Given the description of an element on the screen output the (x, y) to click on. 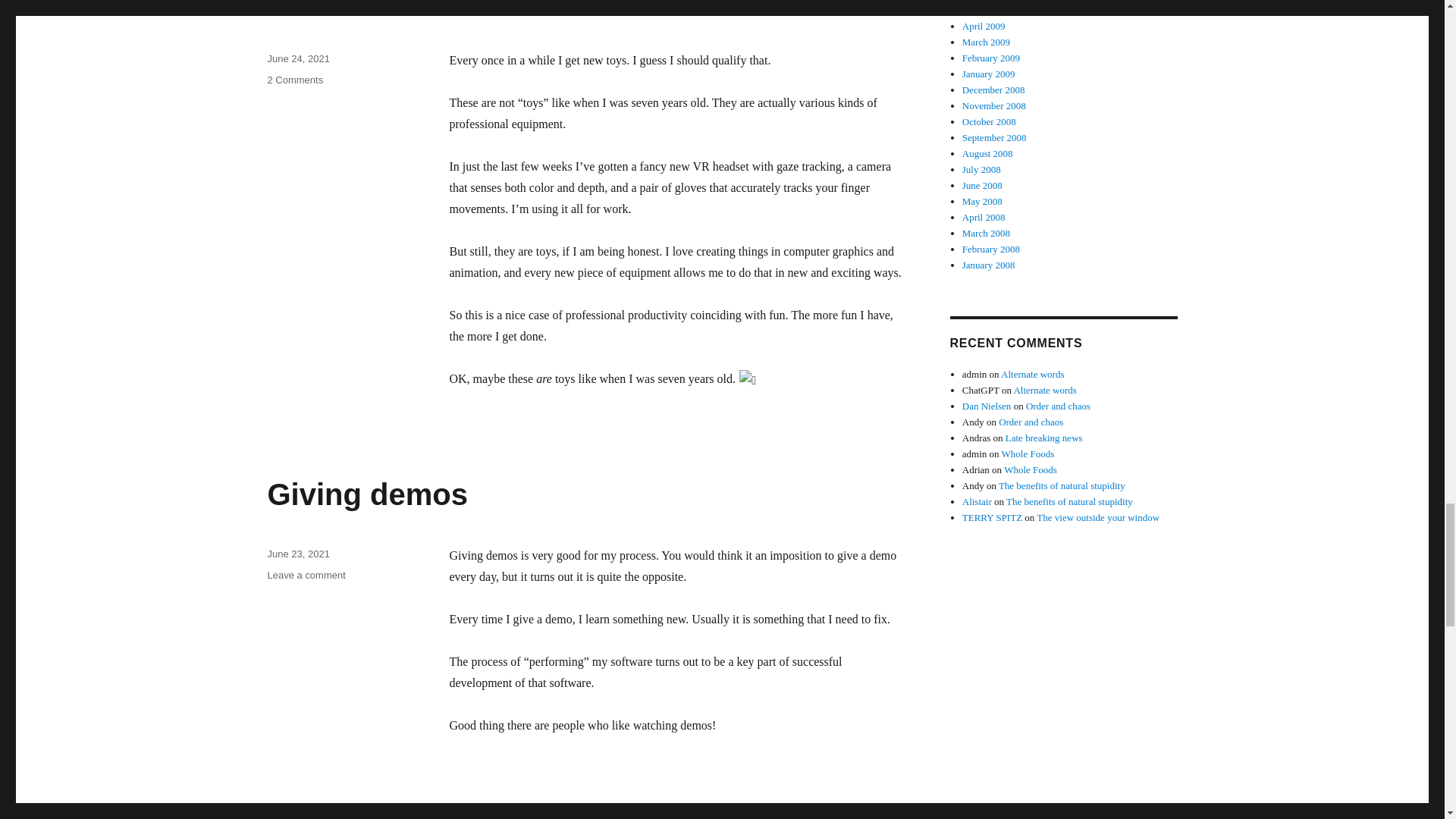
New toys (333, 7)
June 23, 2021 (297, 553)
June 24, 2021 (297, 58)
Giving demos (305, 574)
